Given the description of an element on the screen output the (x, y) to click on. 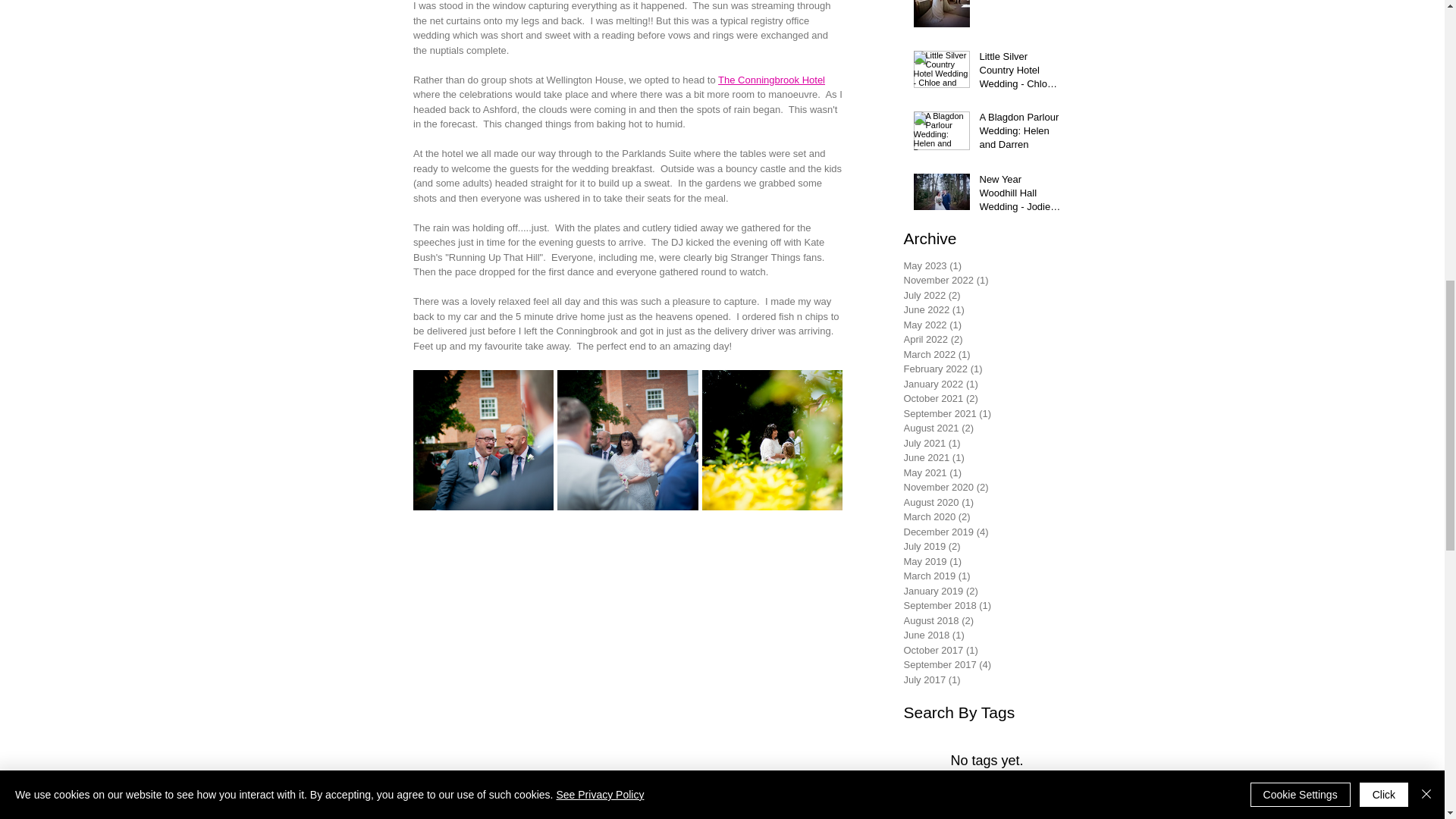
Little Silver Country Hotel Wedding - Chloe and Greg (1020, 73)
A Blagdon Parlour Wedding: Helen and Darren (1020, 134)
New Year Woodhill Hall Wedding - Jodie and Kyle (1020, 196)
The Conningbrook Hotel (771, 79)
